Given the description of an element on the screen output the (x, y) to click on. 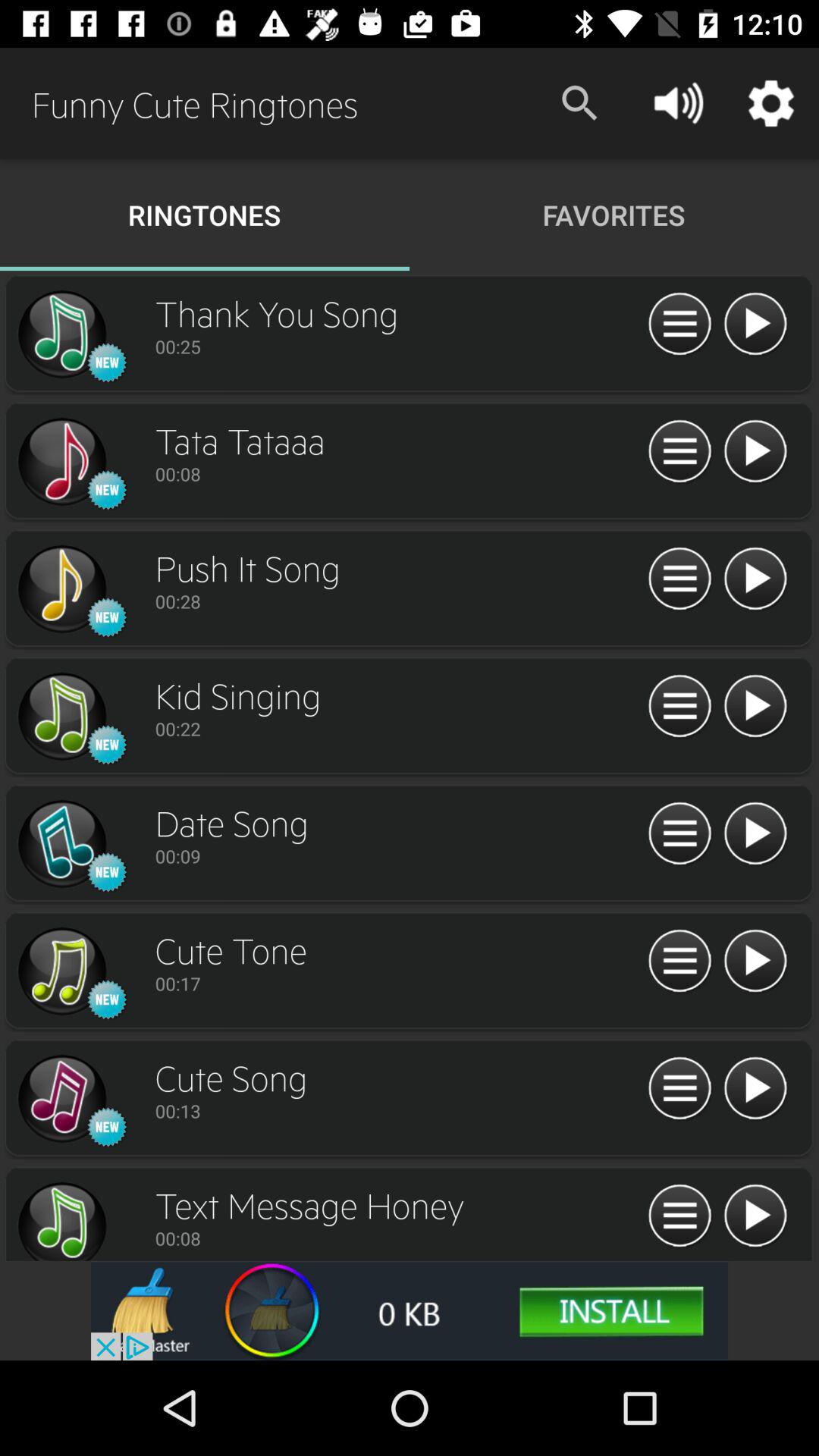
play (755, 706)
